Given the description of an element on the screen output the (x, y) to click on. 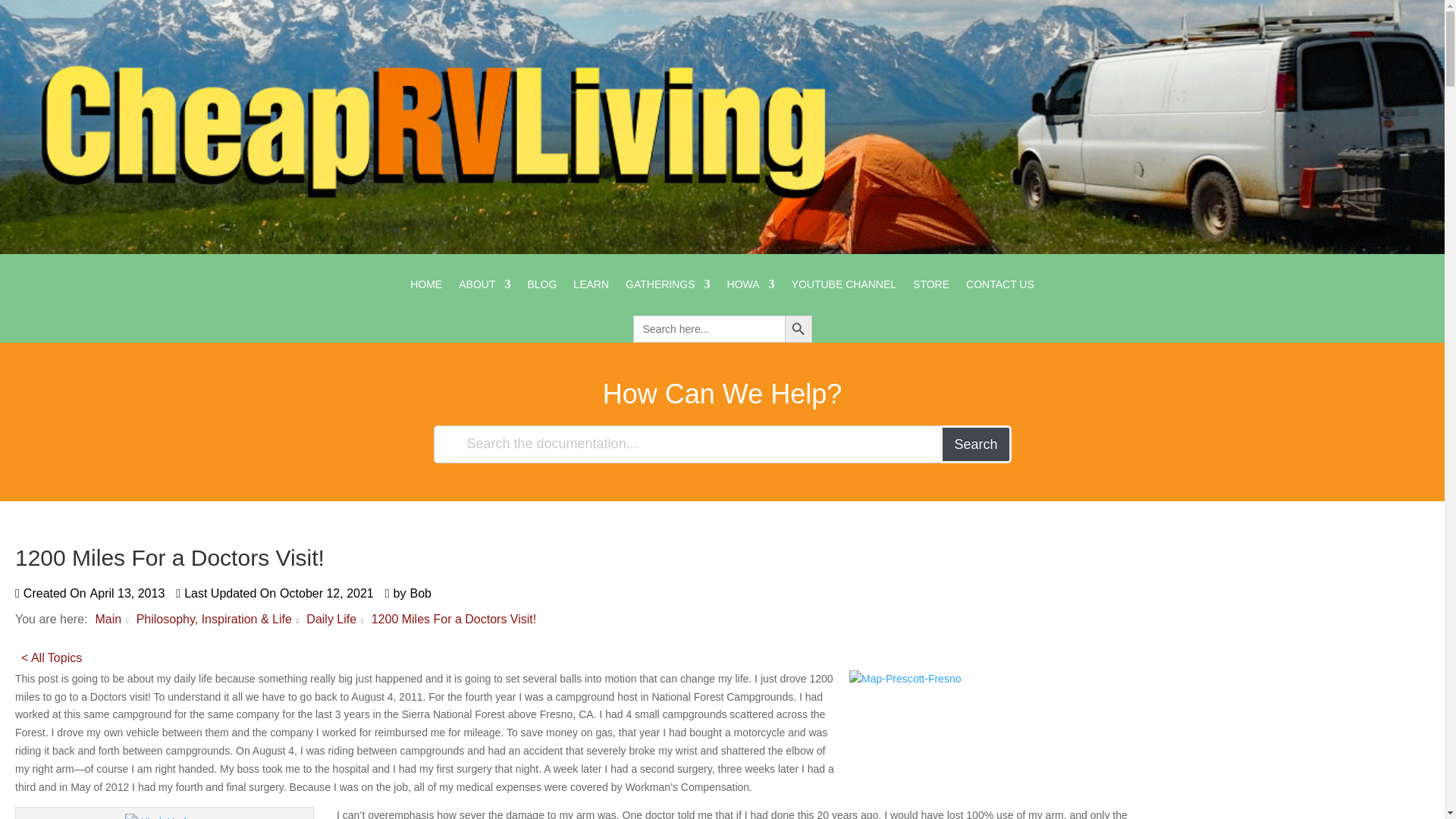
Main (107, 618)
CONTACT US (999, 295)
ABOUT (484, 295)
Search (975, 444)
STORE (930, 295)
BLOG (541, 295)
HOME (426, 295)
Daily Life (330, 618)
HOWA (750, 295)
GATHERINGS (668, 295)
